Given the description of an element on the screen output the (x, y) to click on. 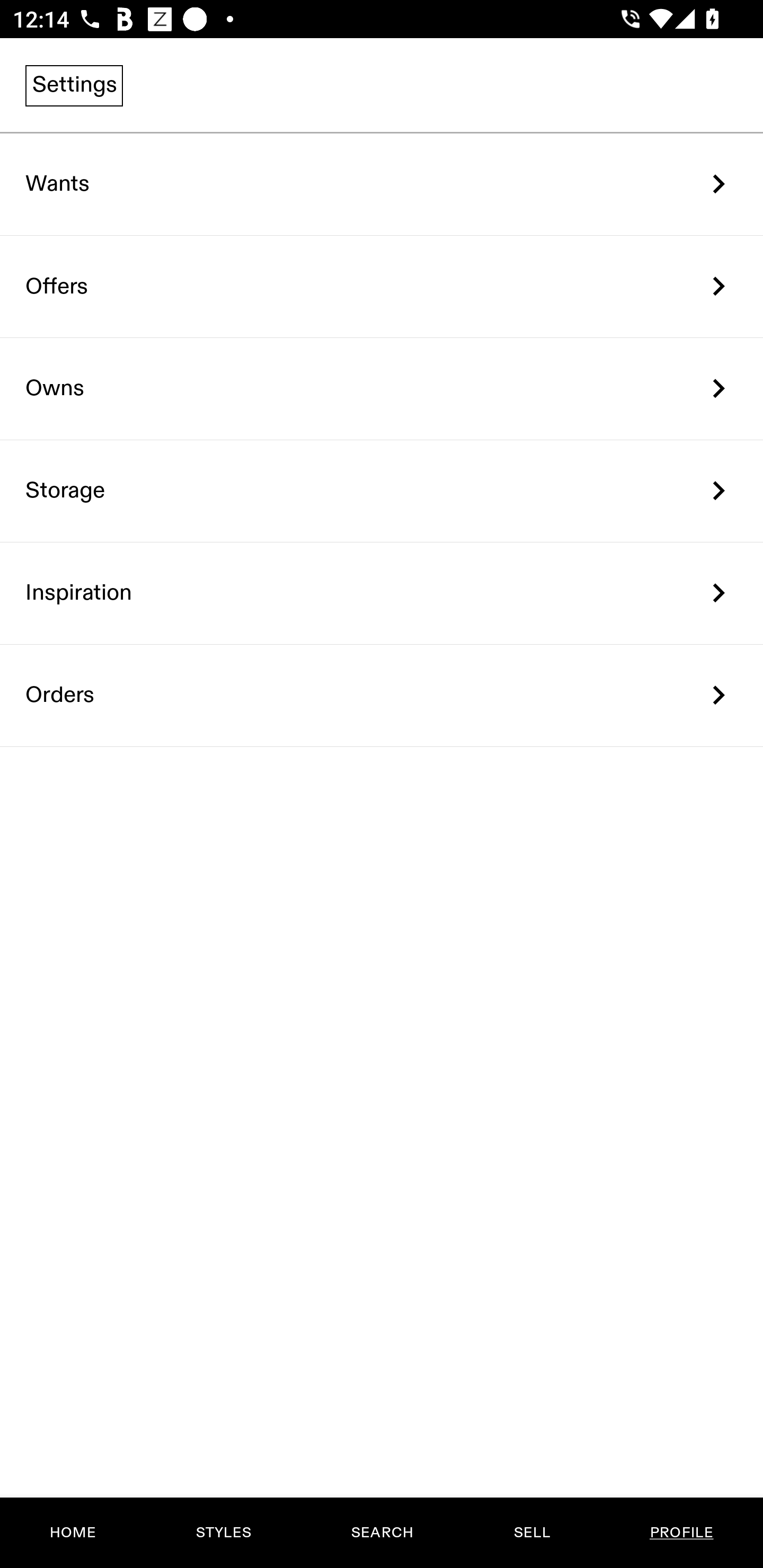
Settings (73, 85)
Wants (381, 184)
Offers (381, 286)
Owns (381, 388)
Storage (381, 491)
Inspiration (381, 593)
Orders (381, 695)
HOME (72, 1532)
STYLES (222, 1532)
SEARCH (381, 1532)
SELL (531, 1532)
PROFILE (681, 1532)
